Given the description of an element on the screen output the (x, y) to click on. 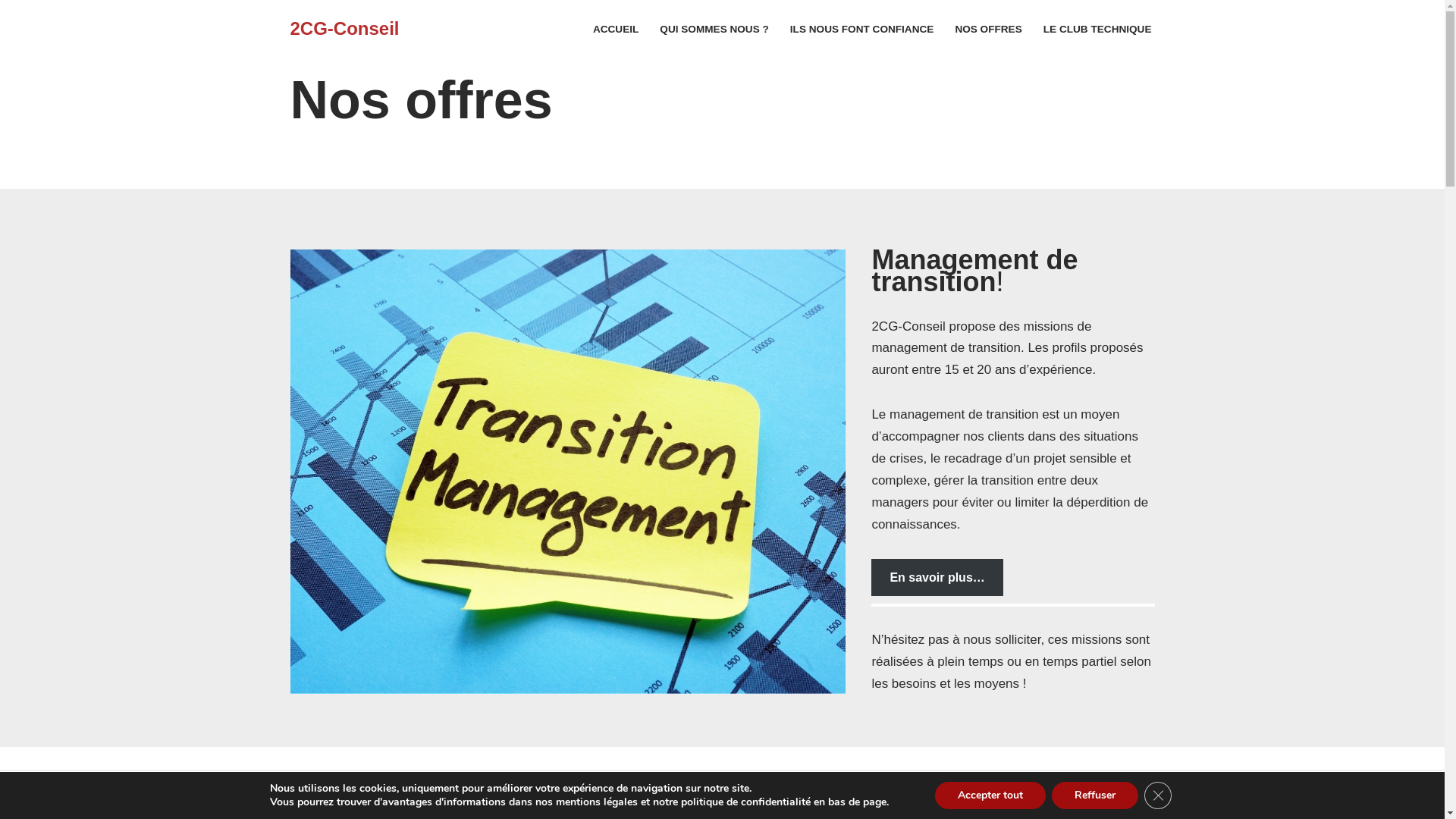
Accepter tout Element type: text (990, 795)
2CG-Conseil Element type: text (343, 28)
ACCUEIL Element type: text (615, 28)
Reffuser Element type: text (1094, 795)
ILS NOUS FONT CONFIANCE Element type: text (862, 28)
Skip to content Element type: text (11, 31)
QUI SOMMES NOUS ? Element type: text (713, 28)
NOS OFFRES Element type: text (987, 28)
Close GDPR Cookie Banner Element type: text (1157, 795)
LE CLUB TECHNIQUE Element type: text (1097, 28)
